Given the description of an element on the screen output the (x, y) to click on. 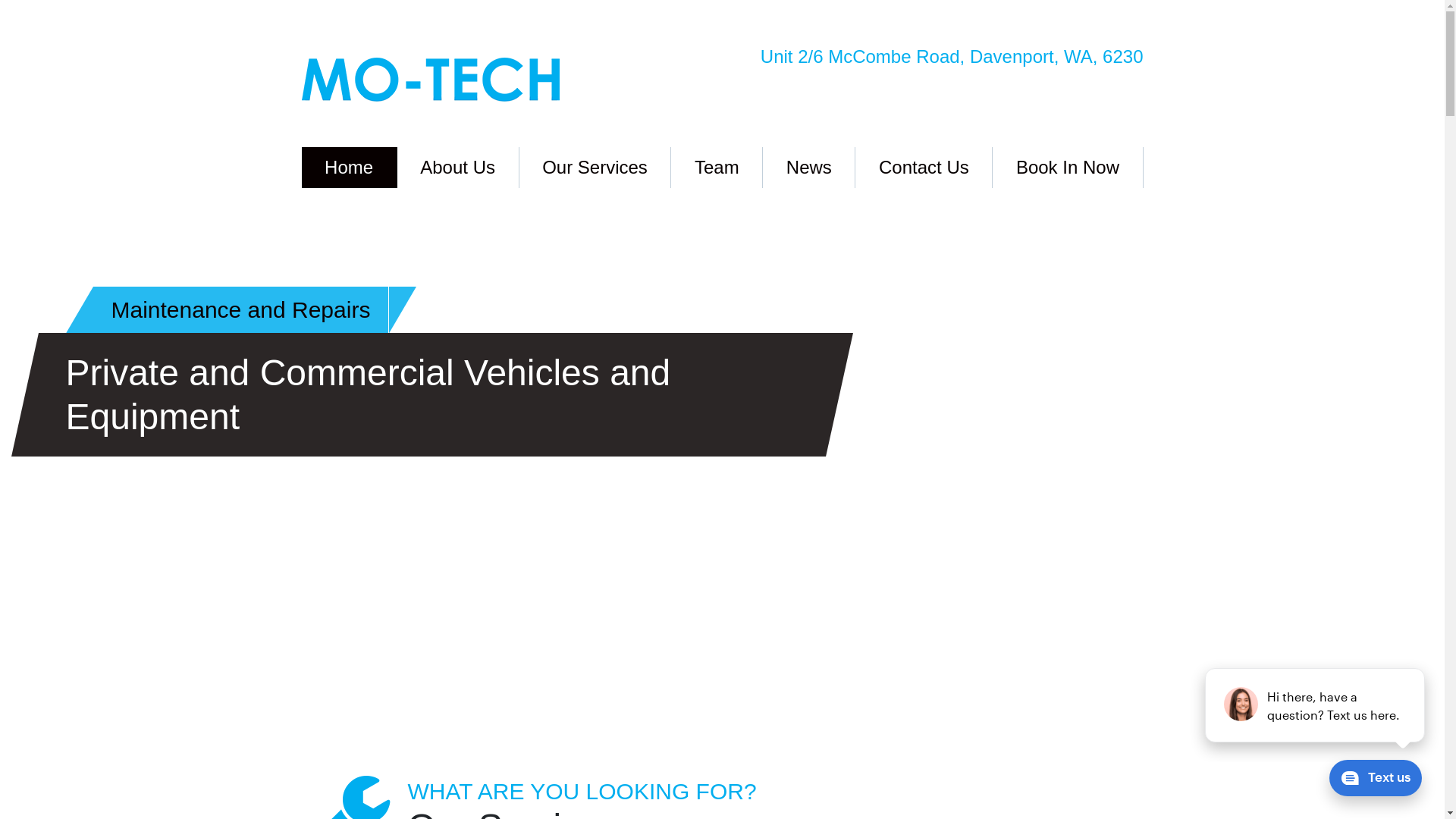
Contact Us Element type: text (923, 167)
Book In Now Element type: text (1067, 167)
Our Services Element type: text (595, 167)
Call (08) 9726 0991 Element type: text (938, 85)
Unit 2/6 McCombe Road, Davenport, WA, 6230 Element type: text (938, 56)
Home Element type: text (349, 167)
About Us Element type: text (458, 167)
News Element type: text (808, 167)
podium webchat widget prompt Element type: hover (1315, 705)
Team Element type: text (716, 167)
